Given the description of an element on the screen output the (x, y) to click on. 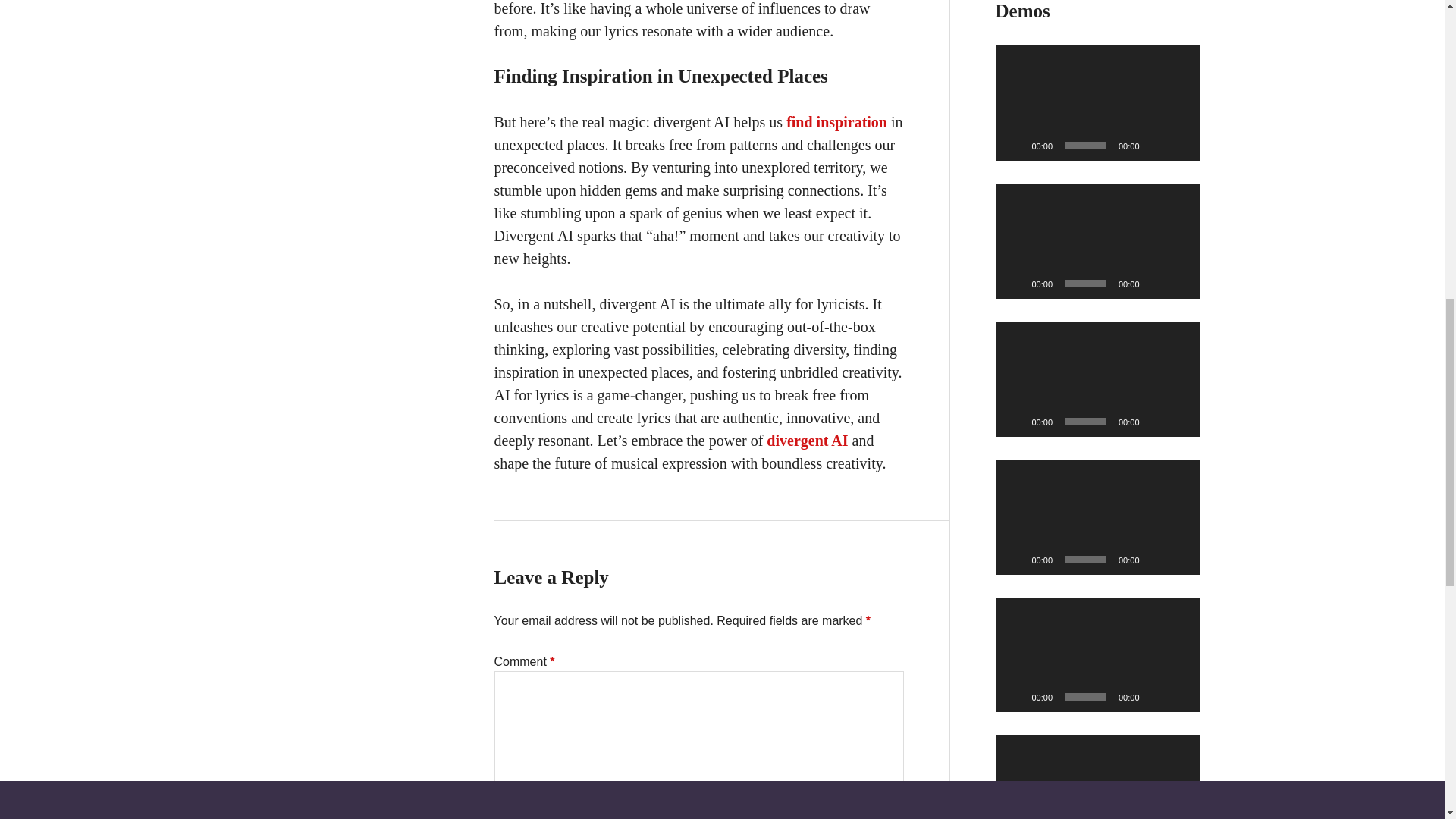
Fullscreen (1180, 559)
Fullscreen (1180, 283)
Mute (1155, 283)
Fullscreen (1180, 696)
Mute (1155, 421)
Fullscreen (1180, 421)
find inspiration (836, 121)
Mute (1155, 696)
Play (1014, 696)
Play (1014, 421)
Play (1014, 145)
Mute (1155, 145)
Mute (1155, 559)
Fullscreen (1180, 145)
Play (1014, 283)
